Given the description of an element on the screen output the (x, y) to click on. 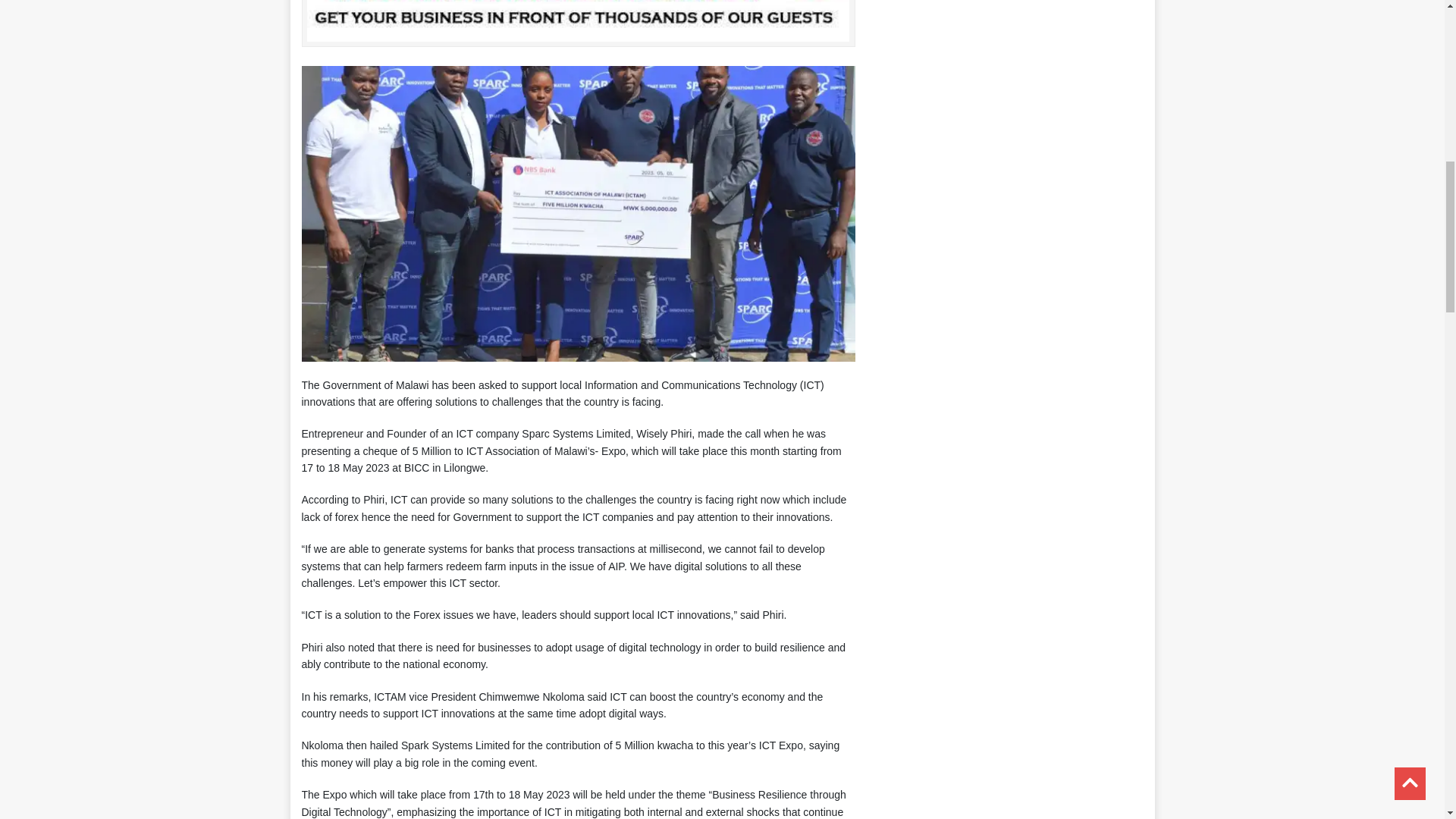
Malawi24 (577, 32)
